Given the description of an element on the screen output the (x, y) to click on. 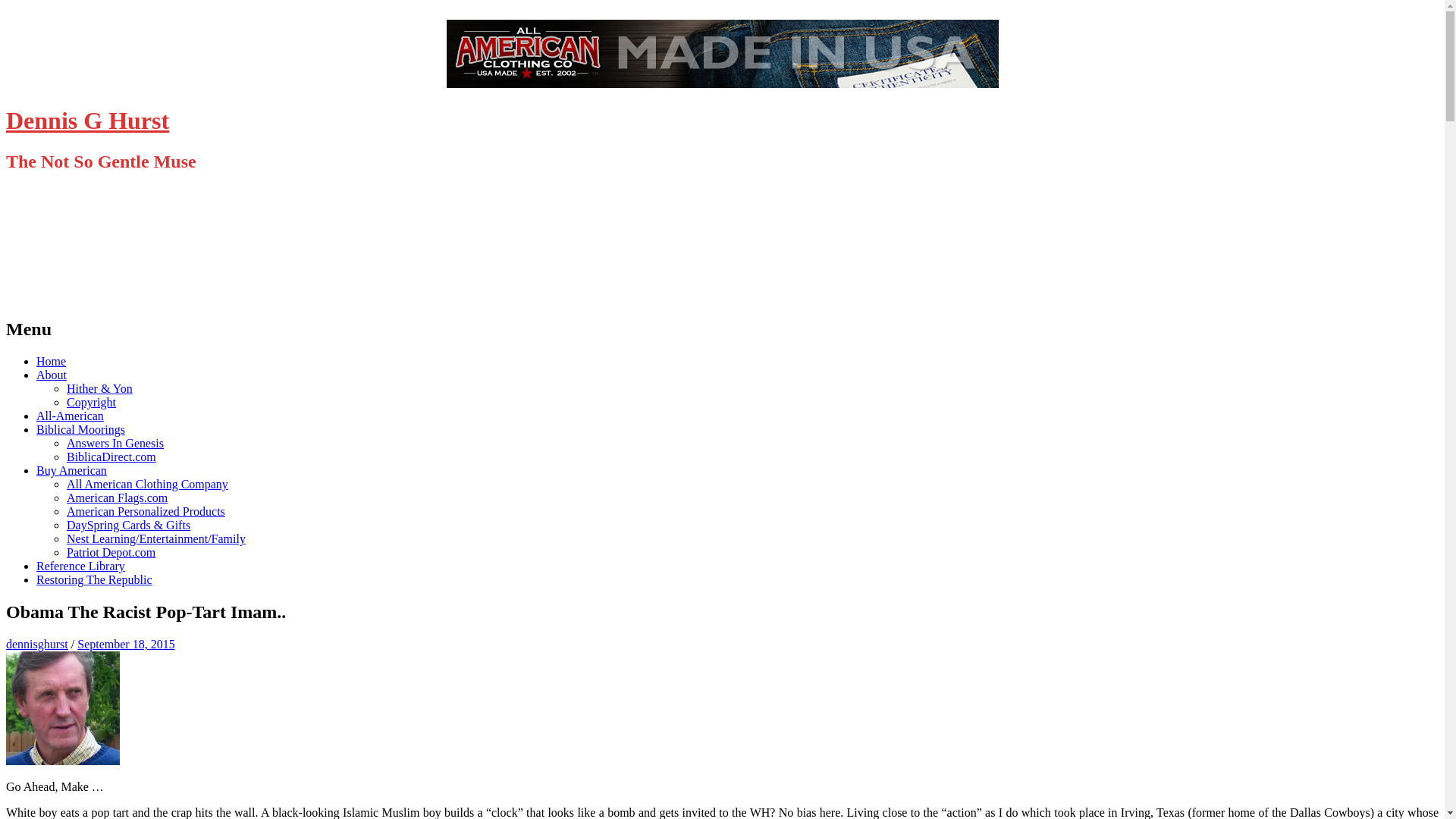
American Personalized Products (145, 511)
Patriot Depot.com (110, 552)
Buy American (71, 470)
American Flags.com (116, 497)
Copyright (91, 401)
About (51, 374)
All-American (69, 415)
September 18, 2015 (125, 644)
Restoring The Republic (94, 579)
